Given the description of an element on the screen output the (x, y) to click on. 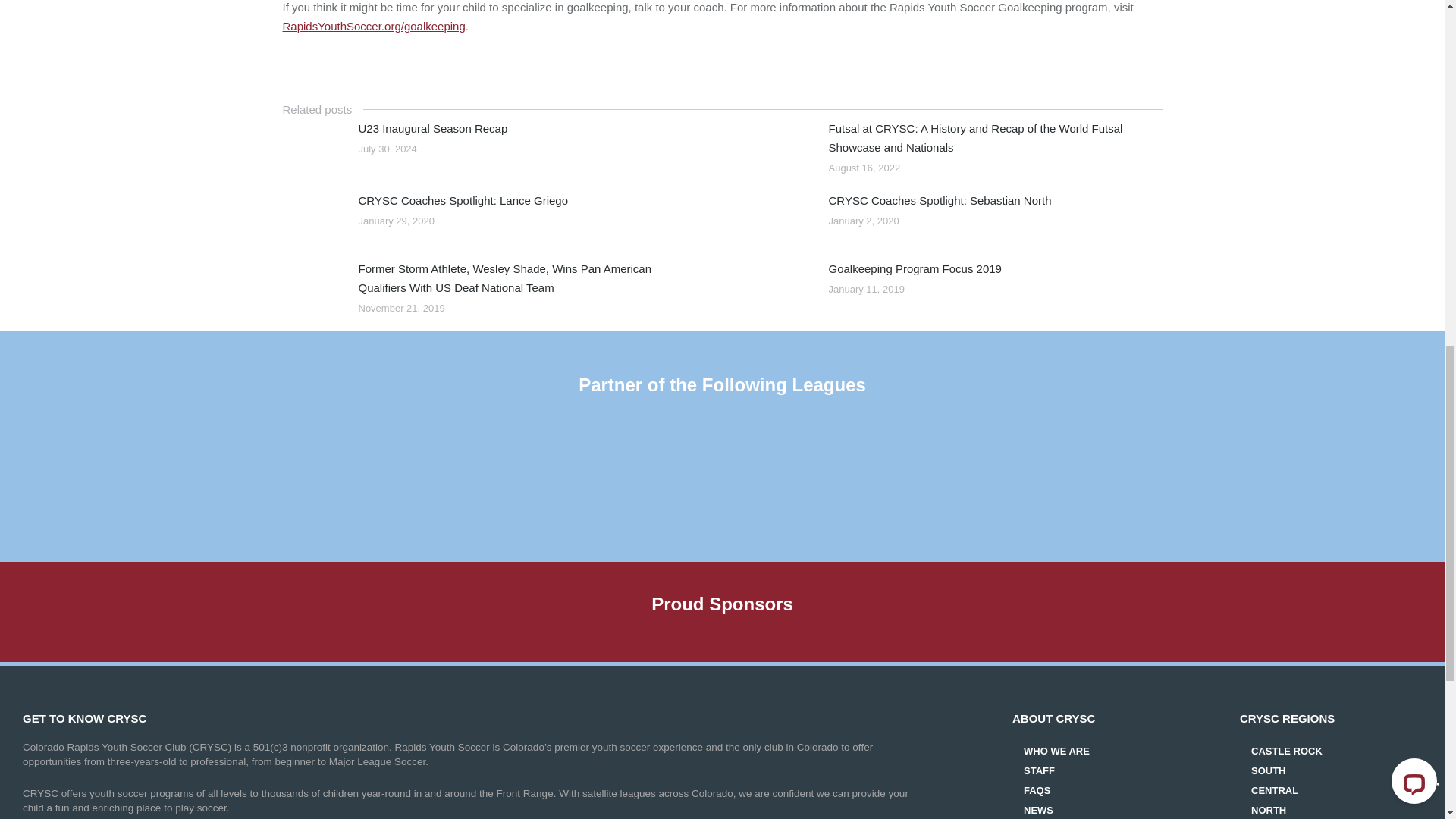
Futsal-7 (782, 145)
image-xxvvvxx7-1 (312, 285)
2019-01-25 (782, 285)
U23-3 (312, 145)
